Given the description of an element on the screen output the (x, y) to click on. 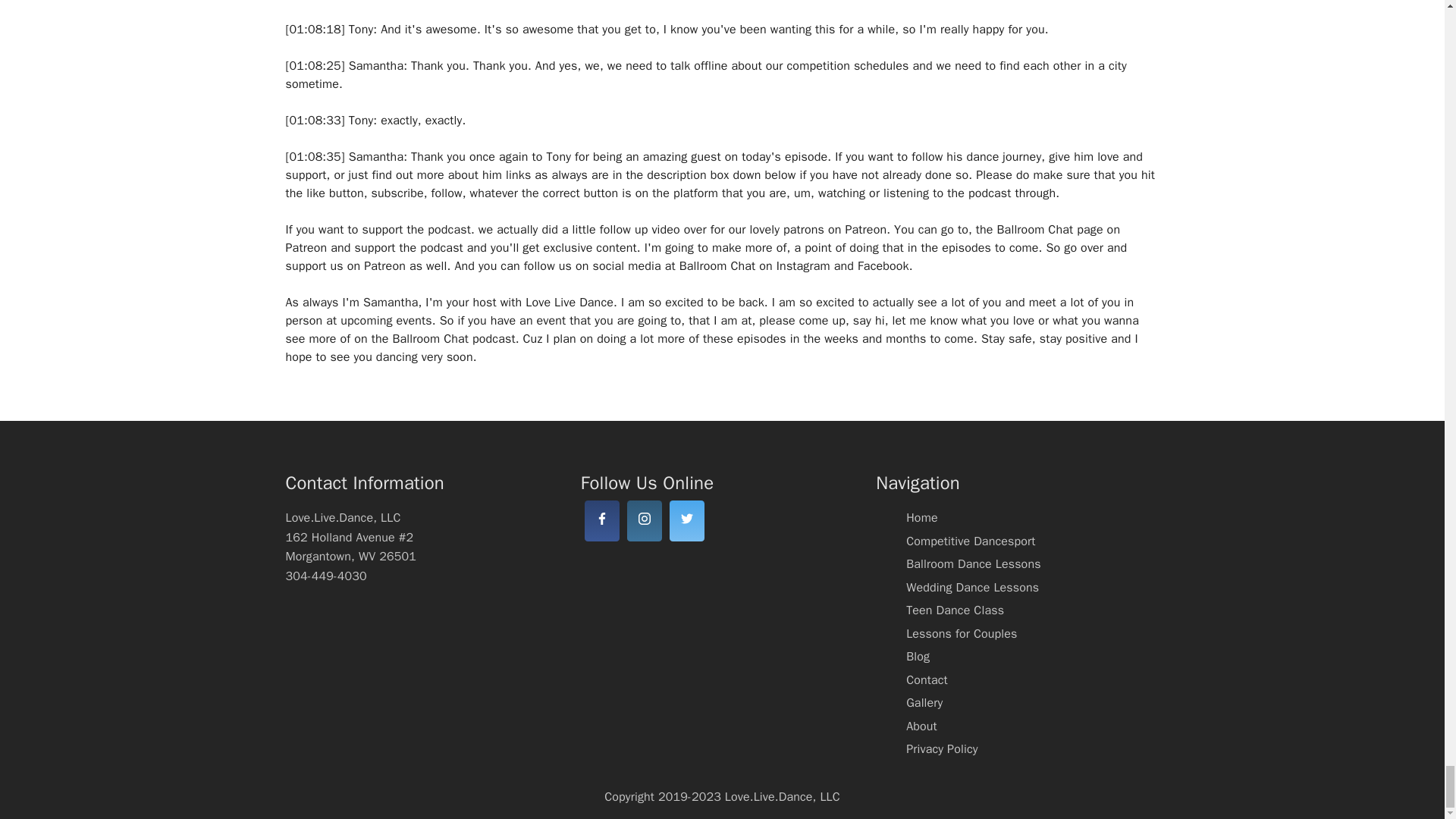
Competitive Dancesport (970, 540)
Gallery (923, 702)
Privacy Policy (940, 749)
Wedding Dance Lessons (972, 587)
Lessons for Couples (960, 633)
Teen Dance Class (954, 610)
Home (921, 517)
About (921, 726)
Ballroom Dance Lessons (973, 563)
Blog (917, 656)
